Given the description of an element on the screen output the (x, y) to click on. 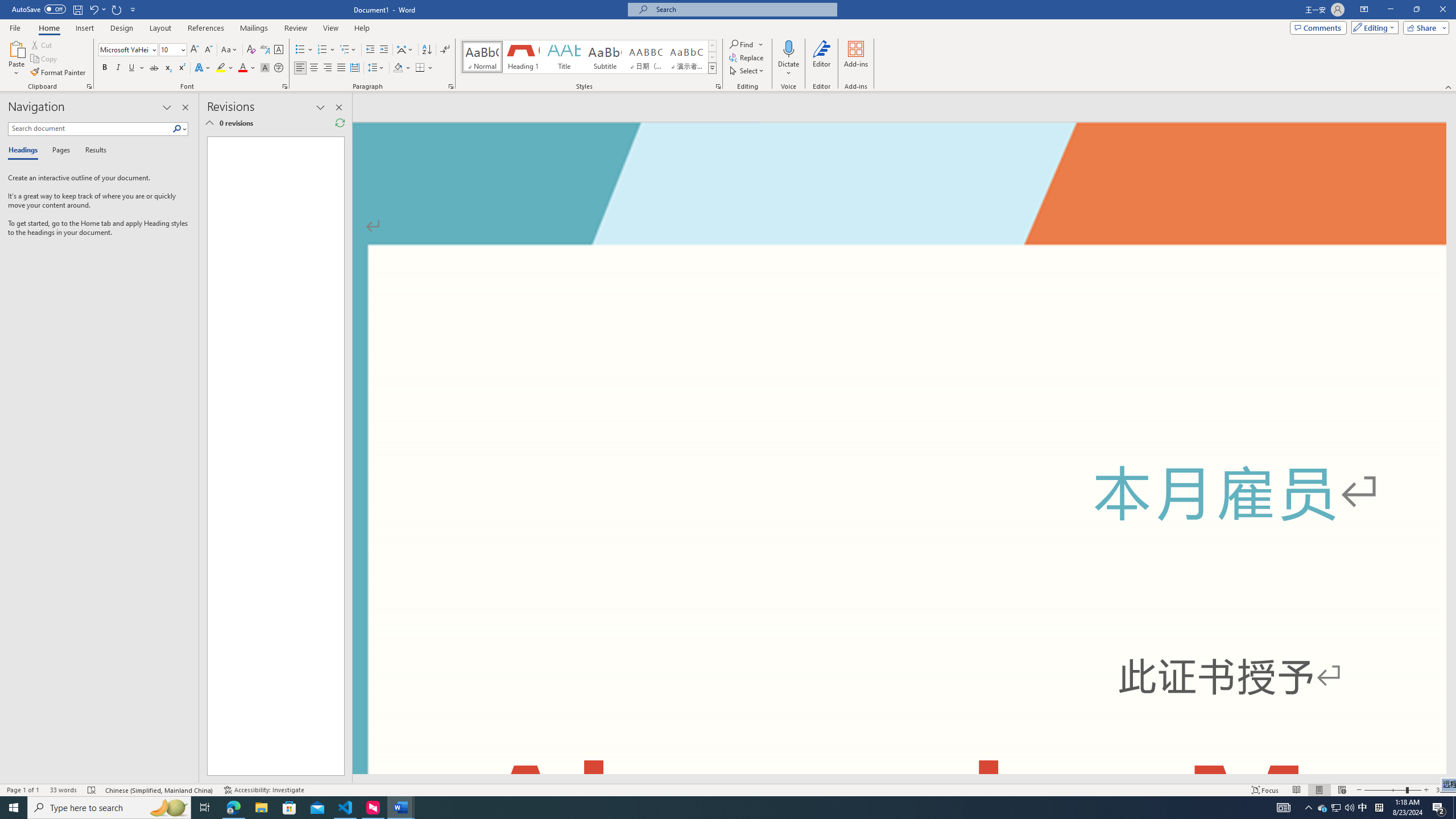
Undo Paragraph Alignment (96, 9)
